Given the description of an element on the screen output the (x, y) to click on. 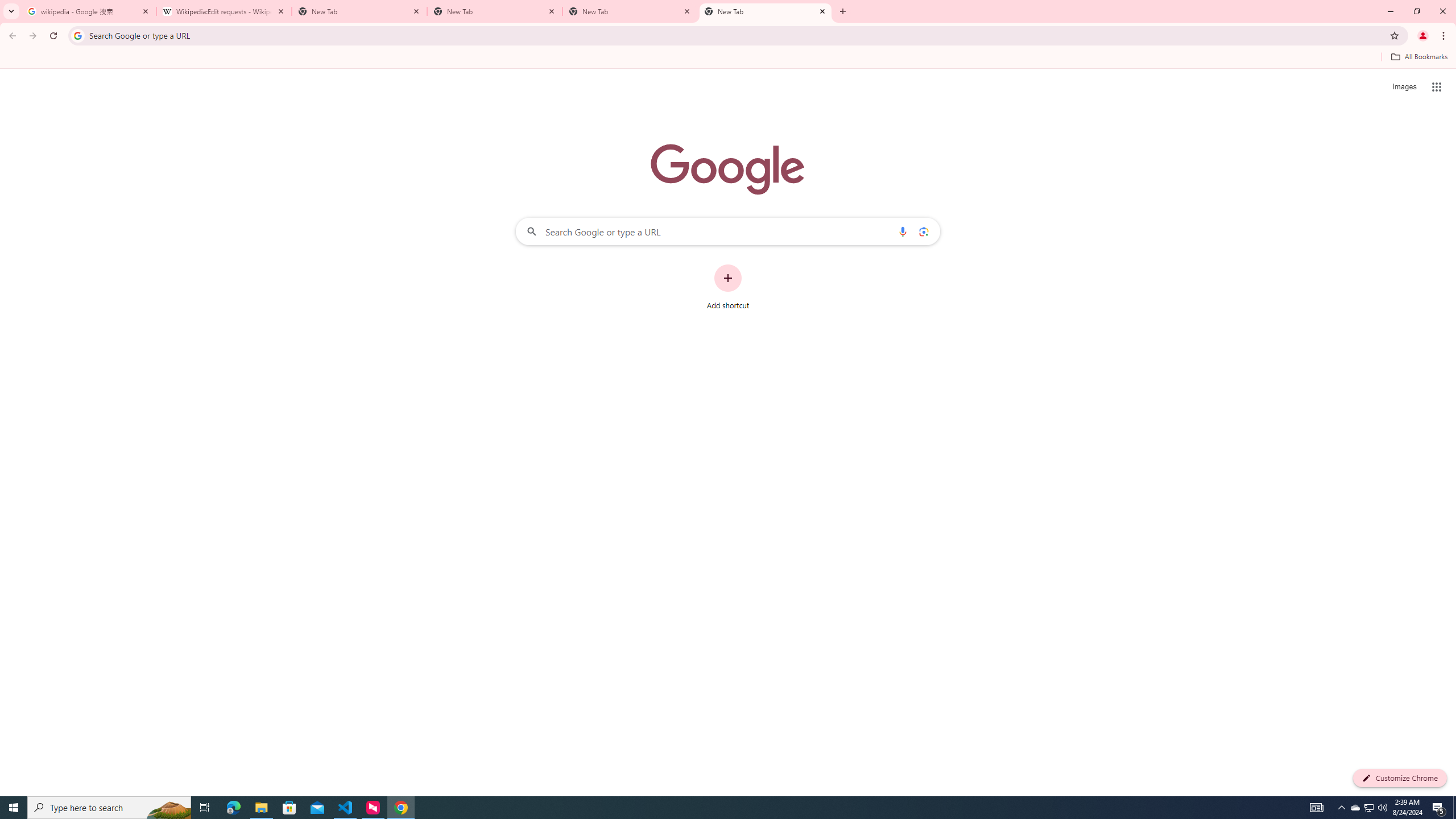
Search Google or type a URL (727, 230)
New Tab (630, 11)
New Tab (359, 11)
